Given the description of an element on the screen output the (x, y) to click on. 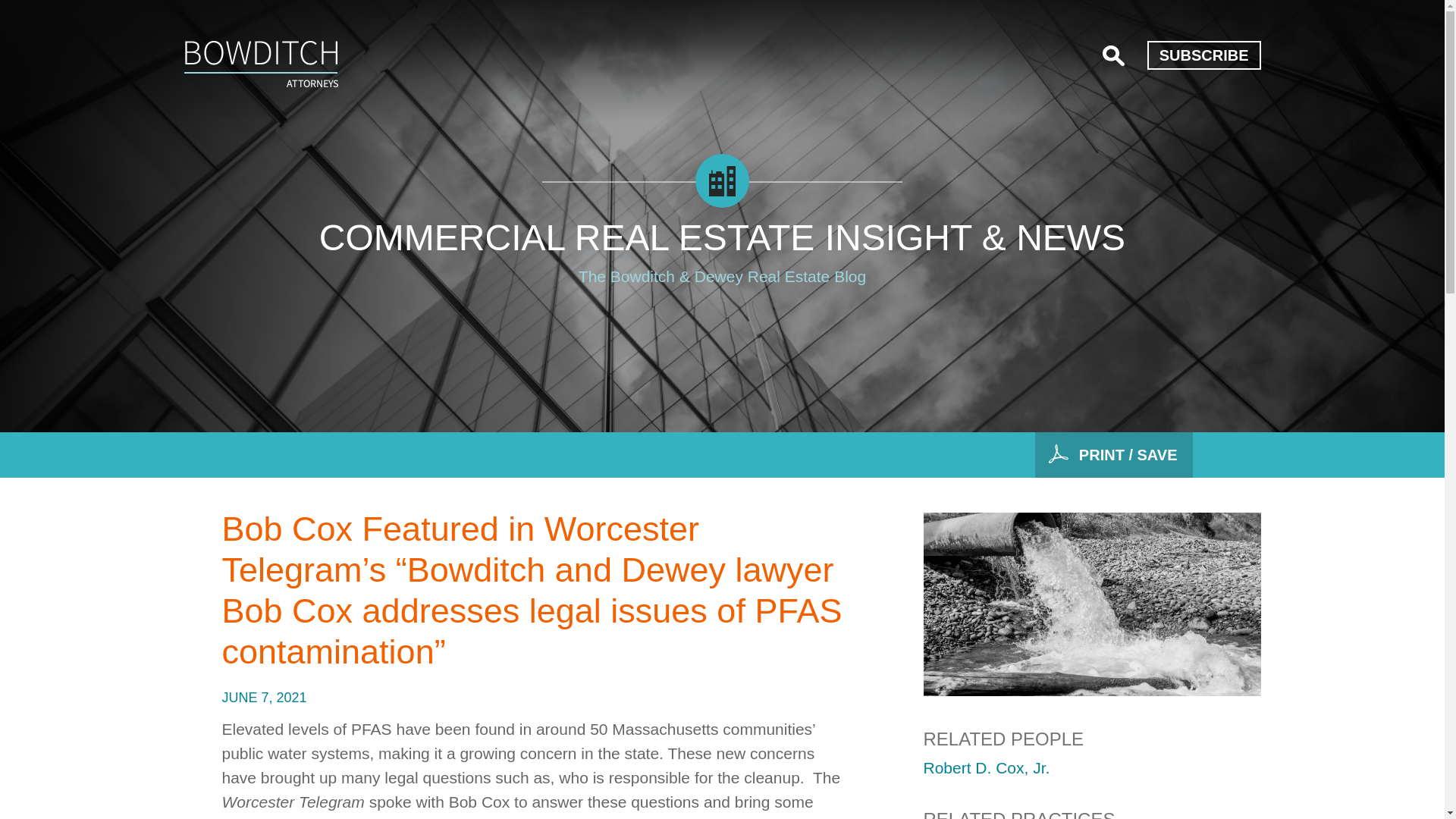
SUBSCRIBE (1203, 54)
Robert D. Cox, Jr. (986, 767)
